Given the description of an element on the screen output the (x, y) to click on. 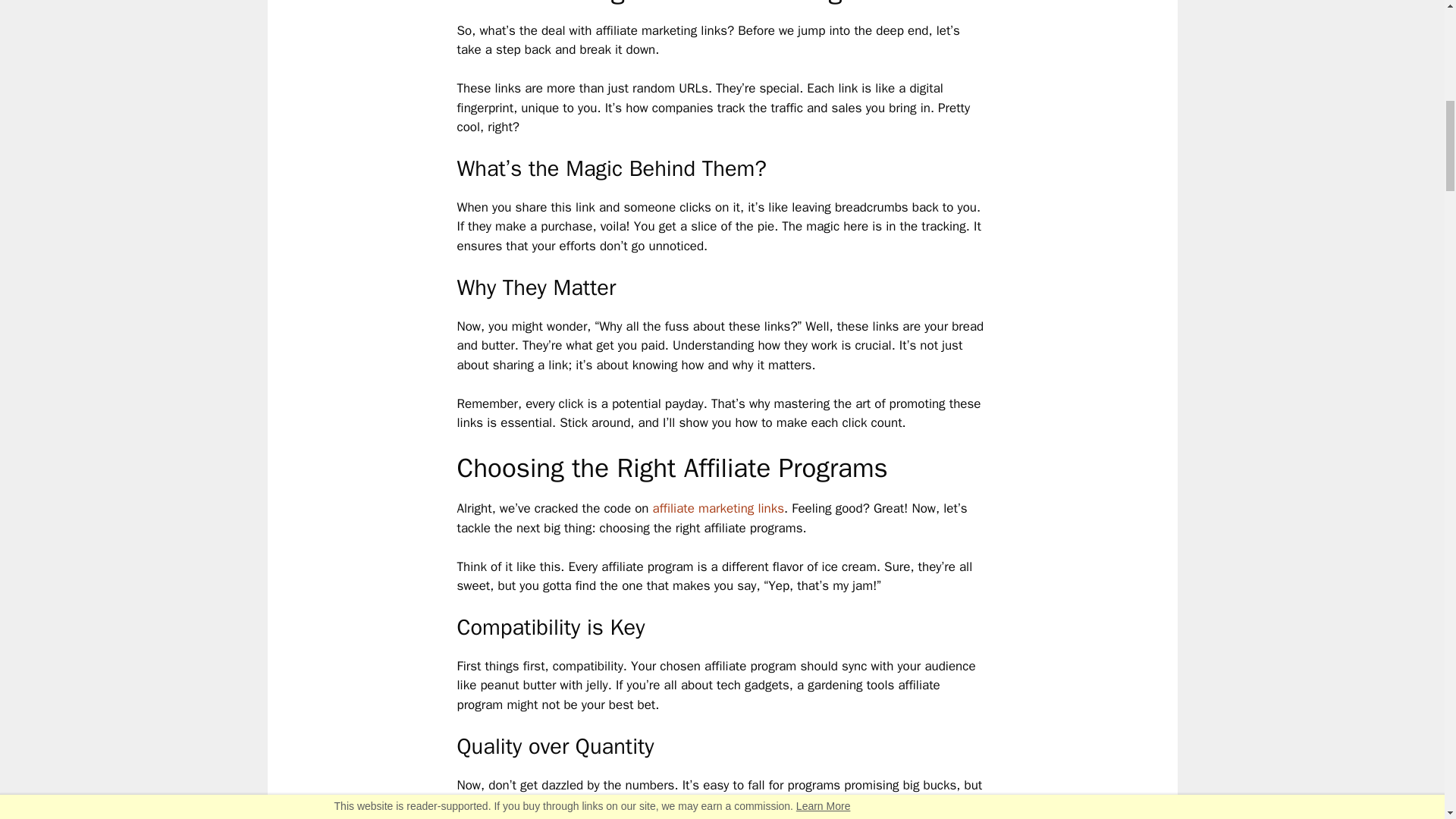
affiliate marketing links (718, 508)
